Given the description of an element on the screen output the (x, y) to click on. 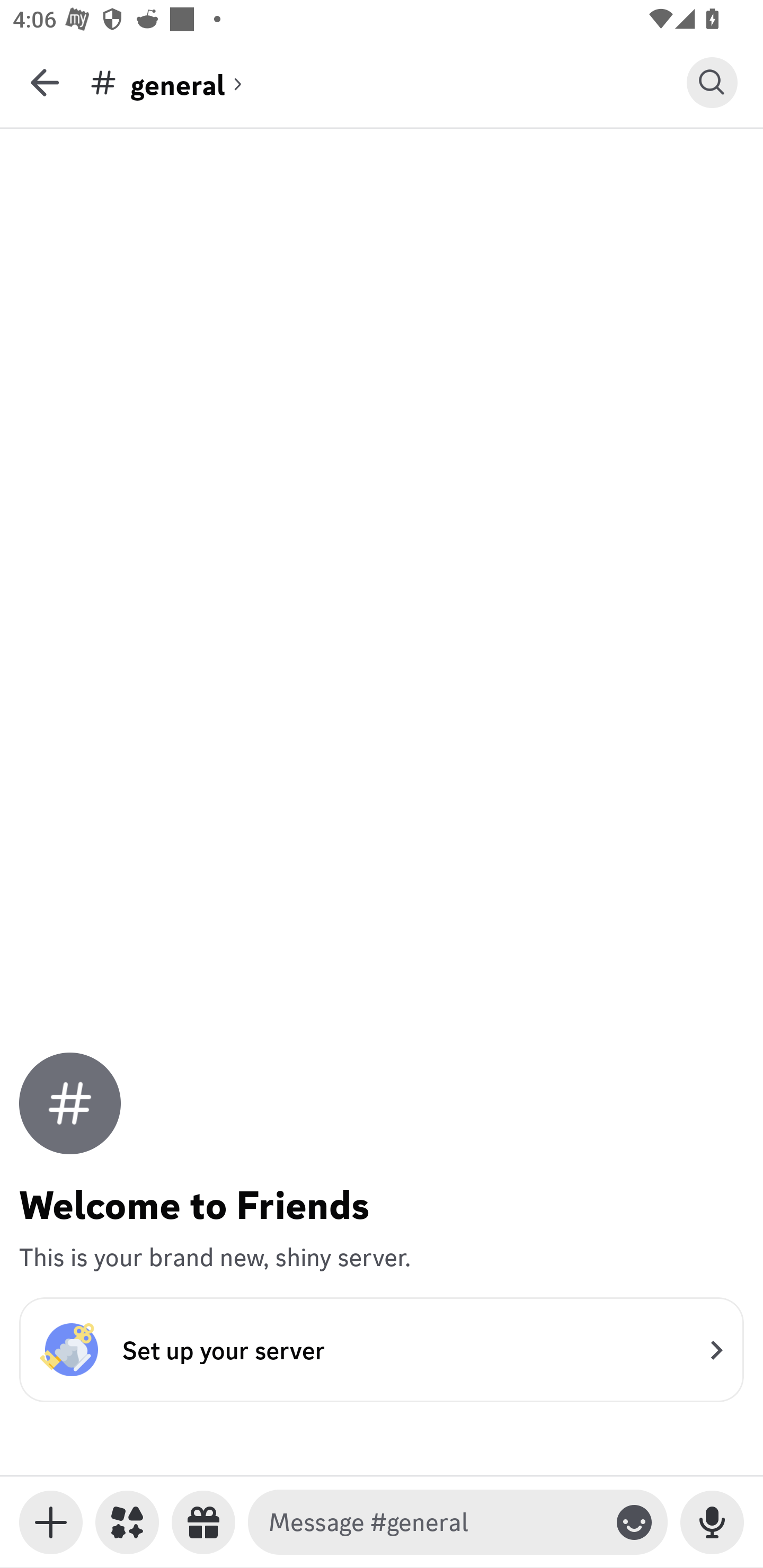
general (channel) general general (channel) (387, 82)
Back (44, 82)
Search (711, 82)
Set up your server (381, 1348)
Message #general Toggle emoji keyboard (457, 1522)
Toggle media keyboard (50, 1522)
Apps (126, 1522)
Send a gift (203, 1522)
Record Voice Message (711, 1522)
Toggle emoji keyboard (634, 1522)
